Given the description of an element on the screen output the (x, y) to click on. 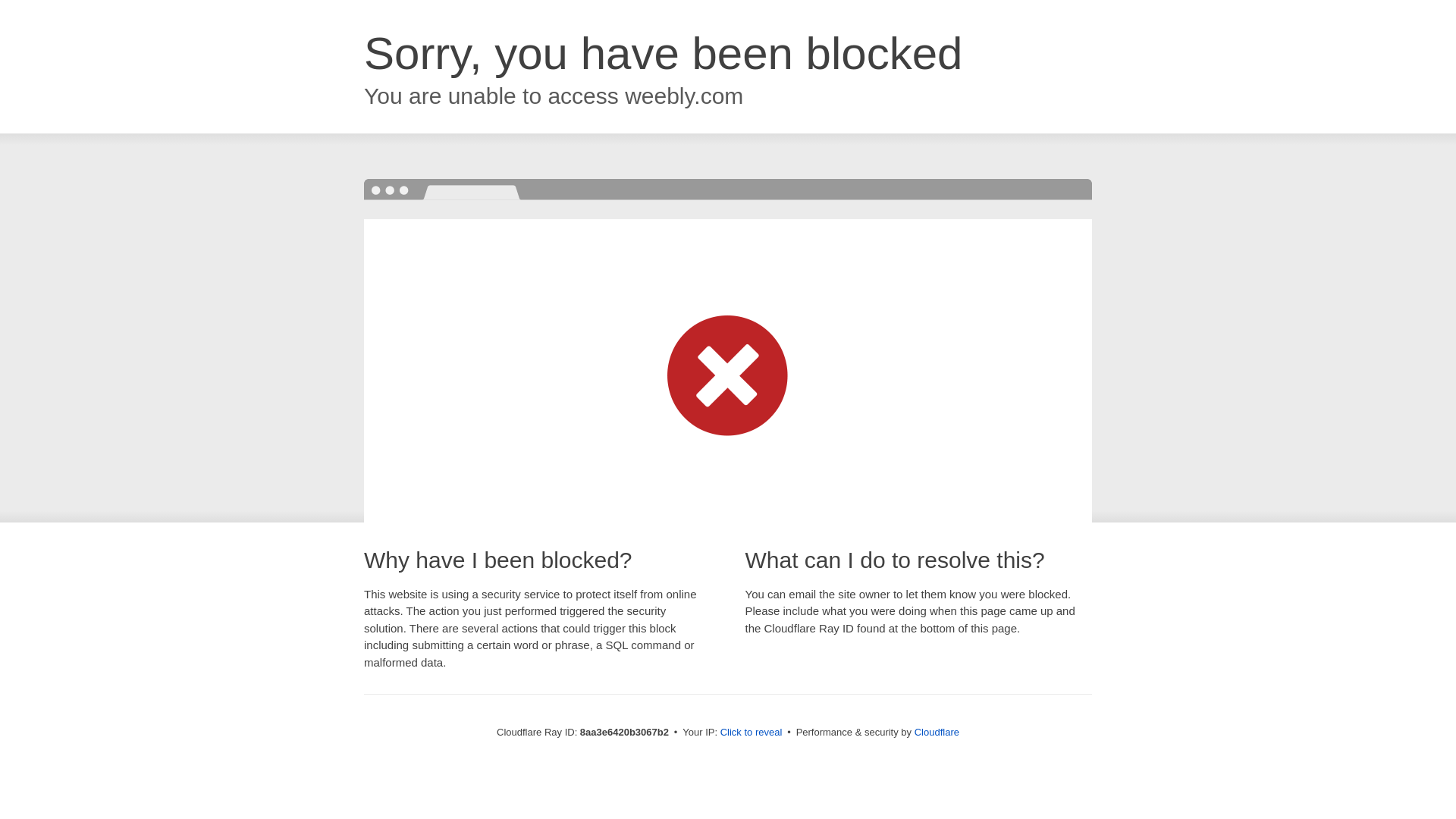
Cloudflare (936, 731)
Click to reveal (751, 732)
